Given the description of an element on the screen output the (x, y) to click on. 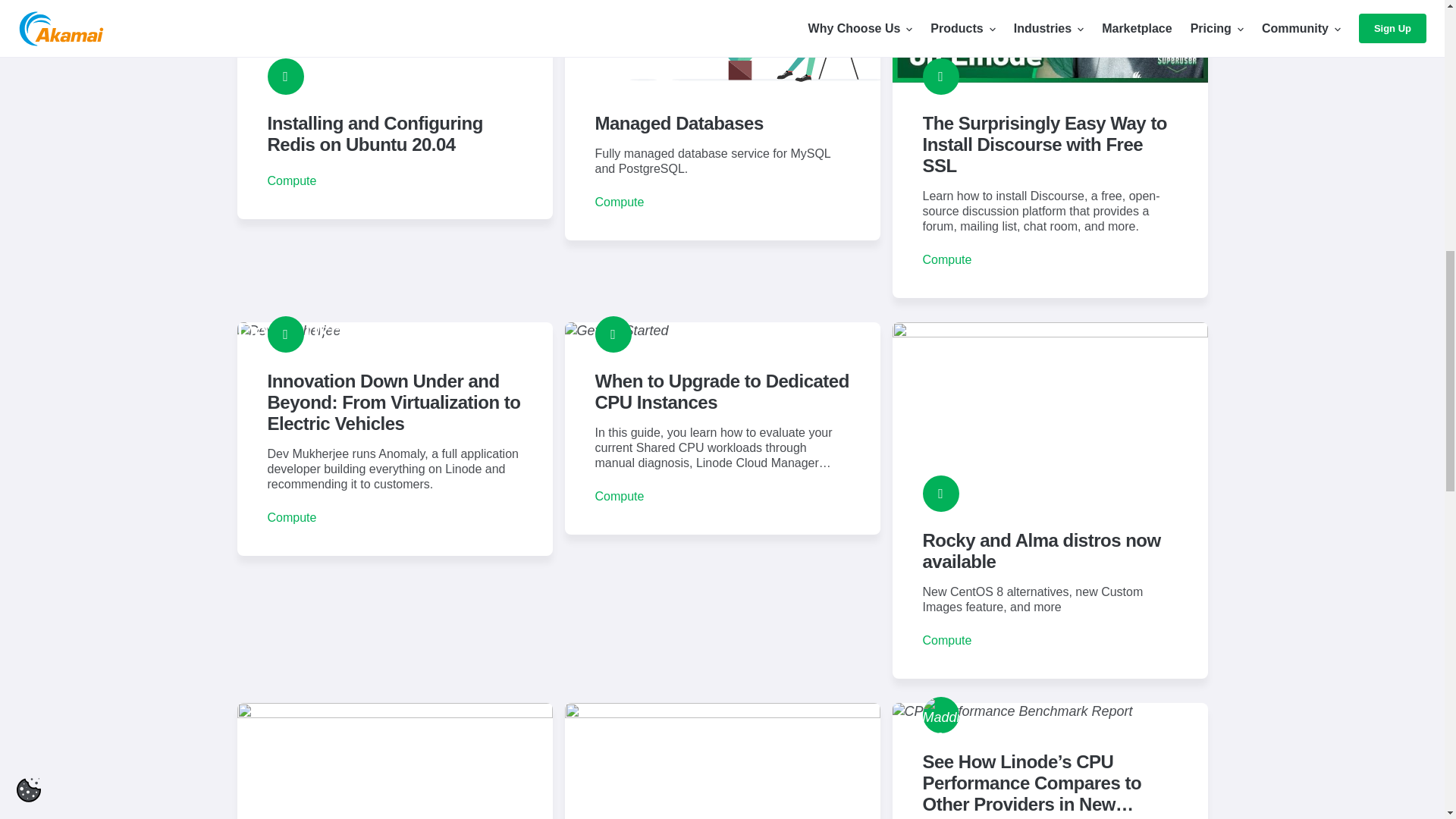
Installing and Configuring Redis on Ubuntu 20.04 (393, 109)
When to Upgrade to Dedicated CPU Instances (721, 428)
The Surprisingly Easy Way to Install Discourse with Free SSL (1049, 149)
Managed Databases (721, 120)
